Given the description of an element on the screen output the (x, y) to click on. 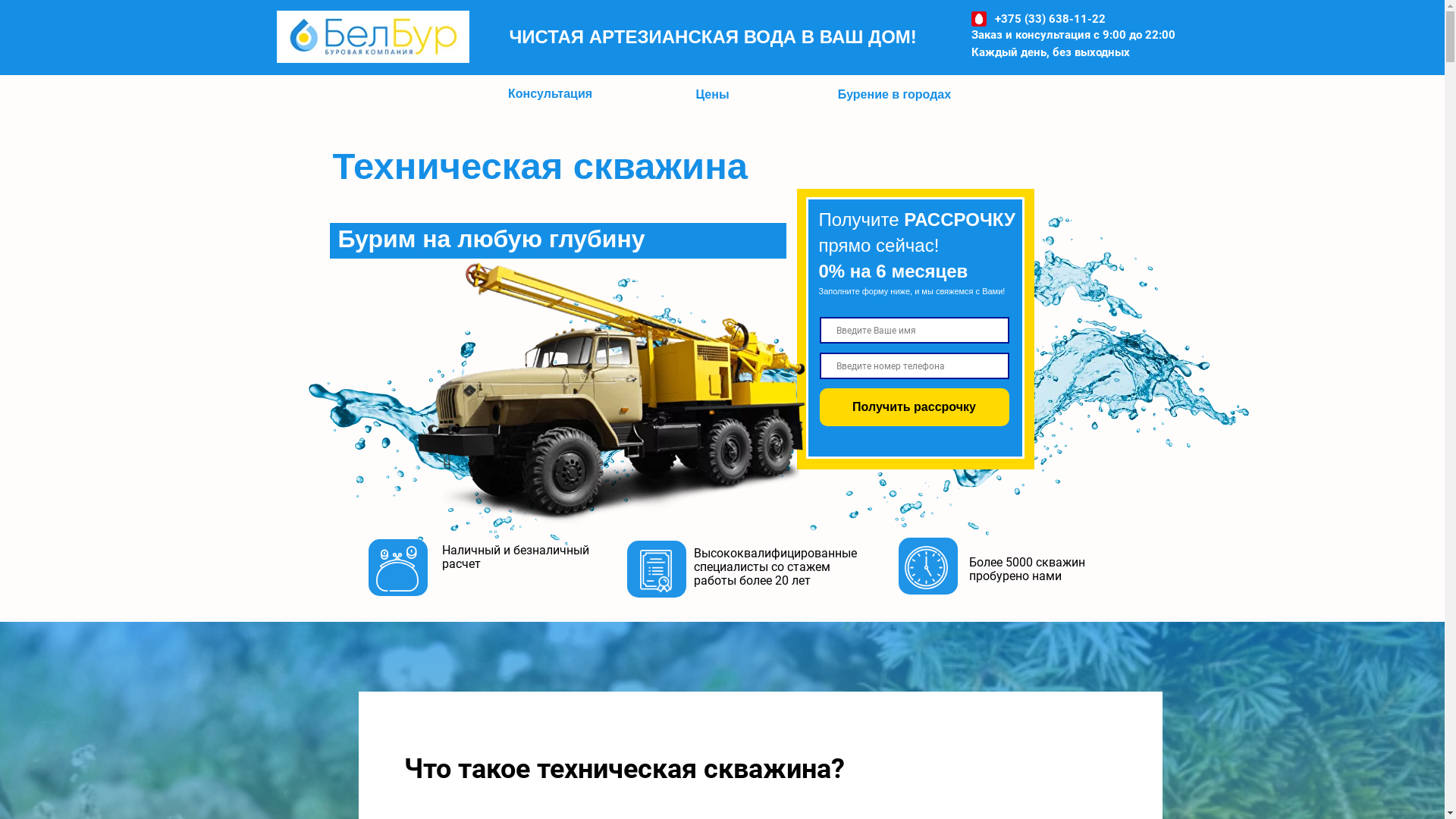
+375 (33) 638-11-22 Element type: text (1049, 18)
